Given the description of an element on the screen output the (x, y) to click on. 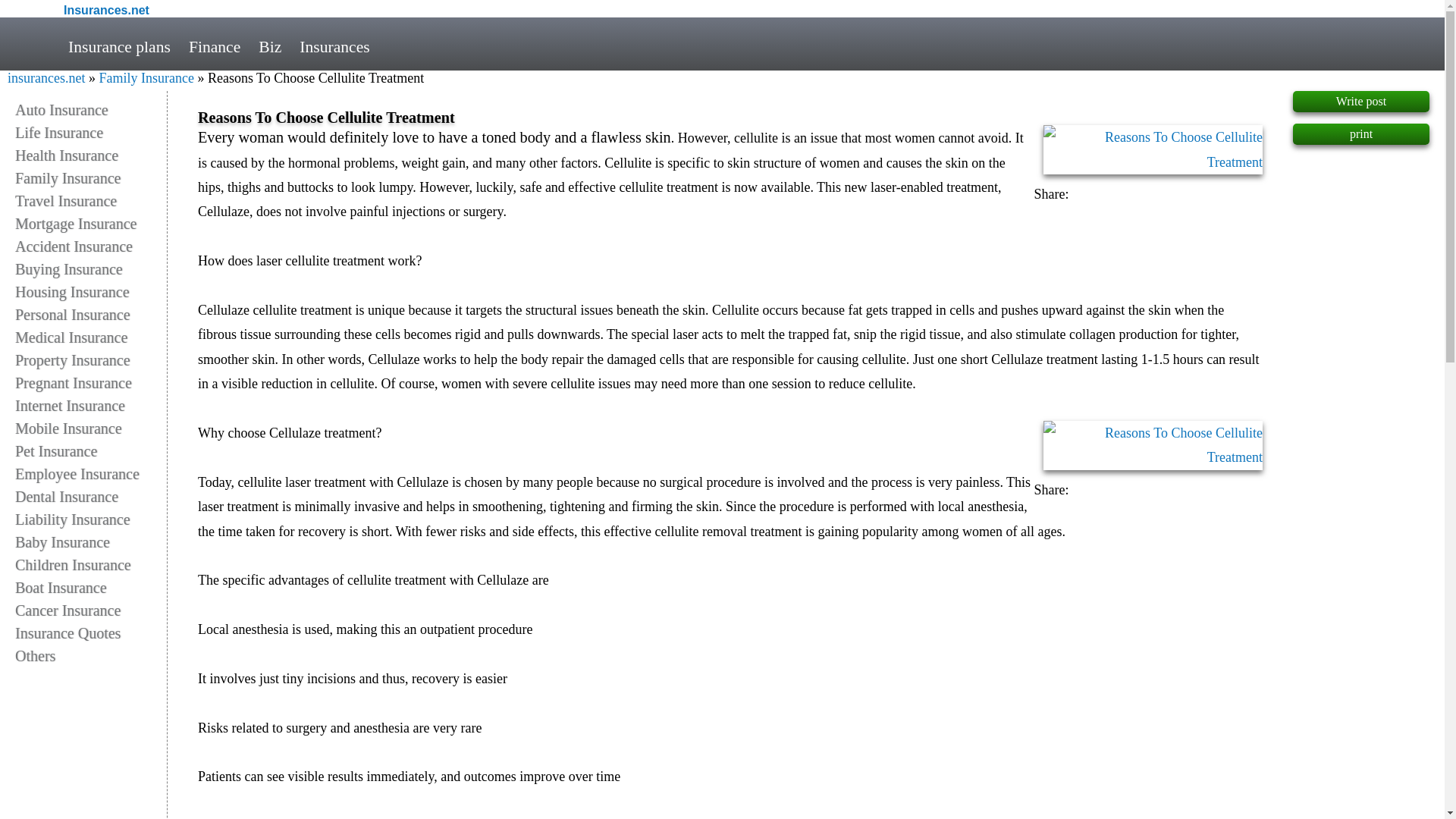
Auto Insurance (90, 109)
Employee Insurance (90, 473)
Pregnant Insurance (90, 382)
Insurance plans (119, 46)
Cancer Insurance (90, 609)
Baby Insurance (90, 541)
Family Insurance (146, 77)
Insurances (334, 46)
Medical Insurance (90, 336)
Biz (269, 46)
Dental Insurance (90, 496)
Buying Insurance (90, 268)
Mortgage Insurance (90, 223)
Liability Insurance (90, 518)
Health Insurance (90, 155)
